Given the description of an element on the screen output the (x, y) to click on. 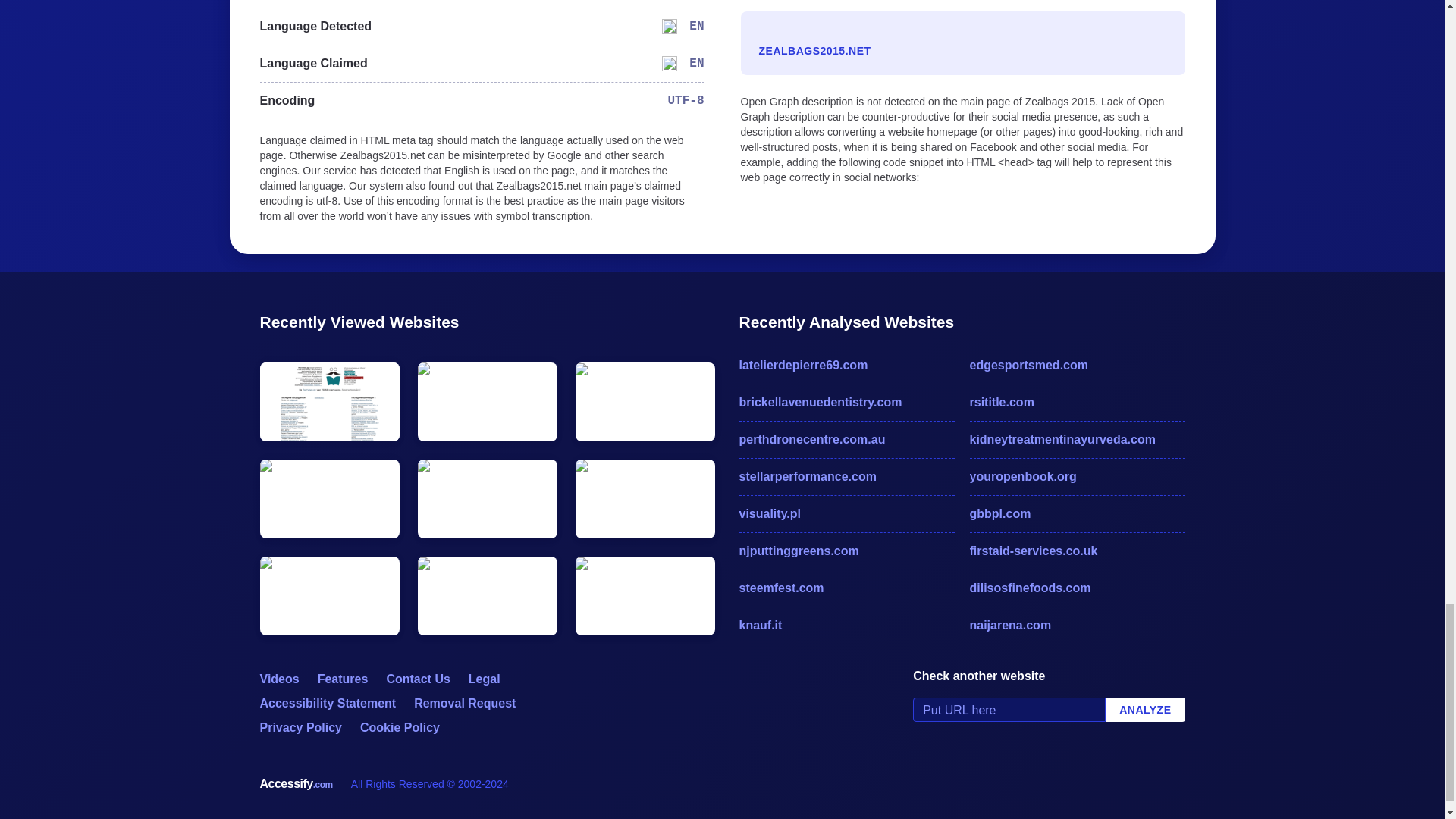
steemfest.com (845, 588)
naijarena.com (1077, 625)
njputtinggreens.com (845, 551)
Videos (278, 678)
visuality.pl (845, 514)
stellarperformance.com (845, 476)
rsititle.com (1077, 402)
youropenbook.org (1077, 476)
knauf.it (845, 625)
perthdronecentre.com.au (845, 439)
dilisosfinefoods.com (1077, 588)
gbbpl.com (1077, 514)
Contact Us (417, 678)
brickellavenuedentistry.com (845, 402)
